Given the description of an element on the screen output the (x, y) to click on. 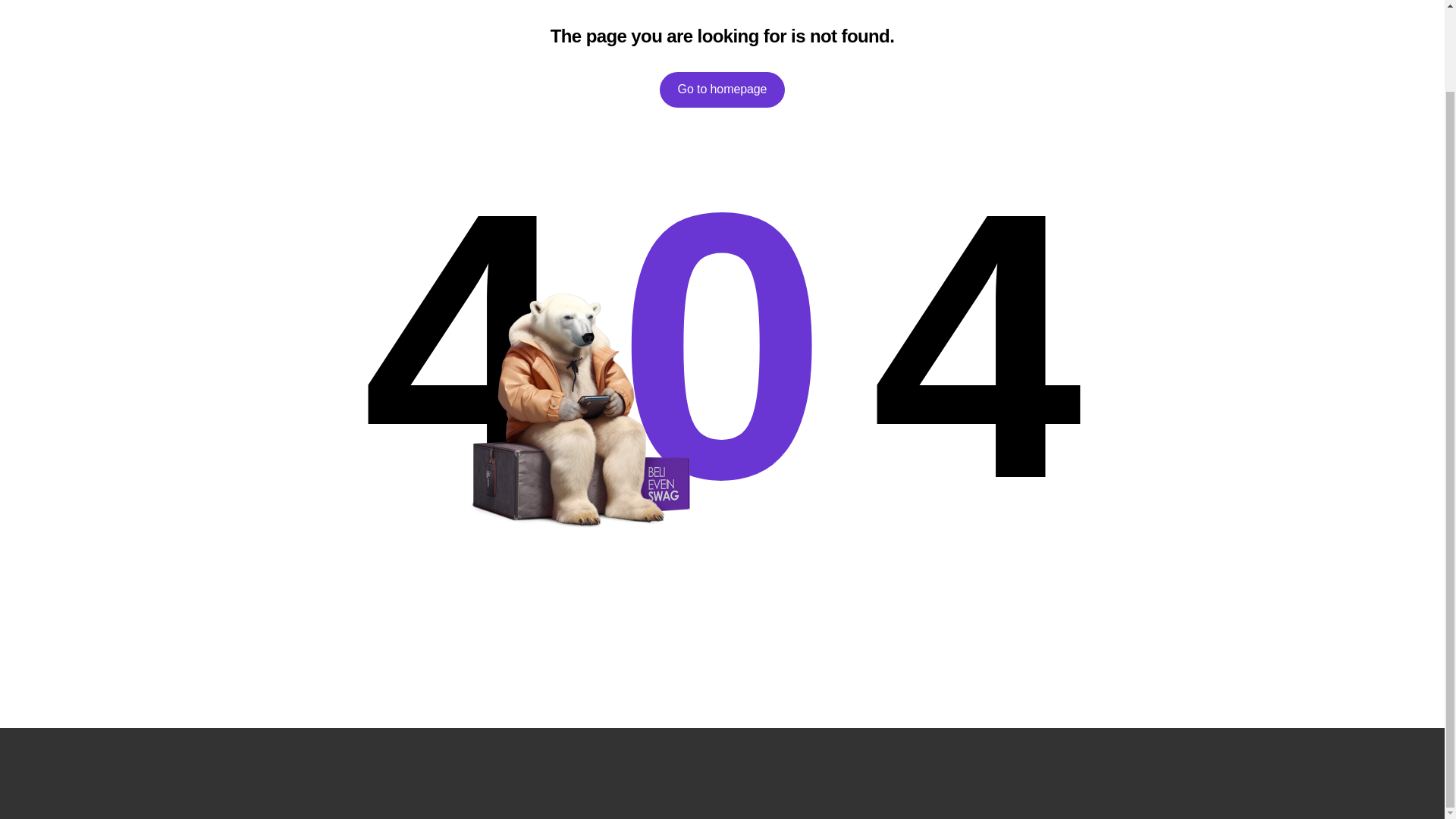
bear (576, 410)
Go to homepage (722, 89)
